Given the description of an element on the screen output the (x, y) to click on. 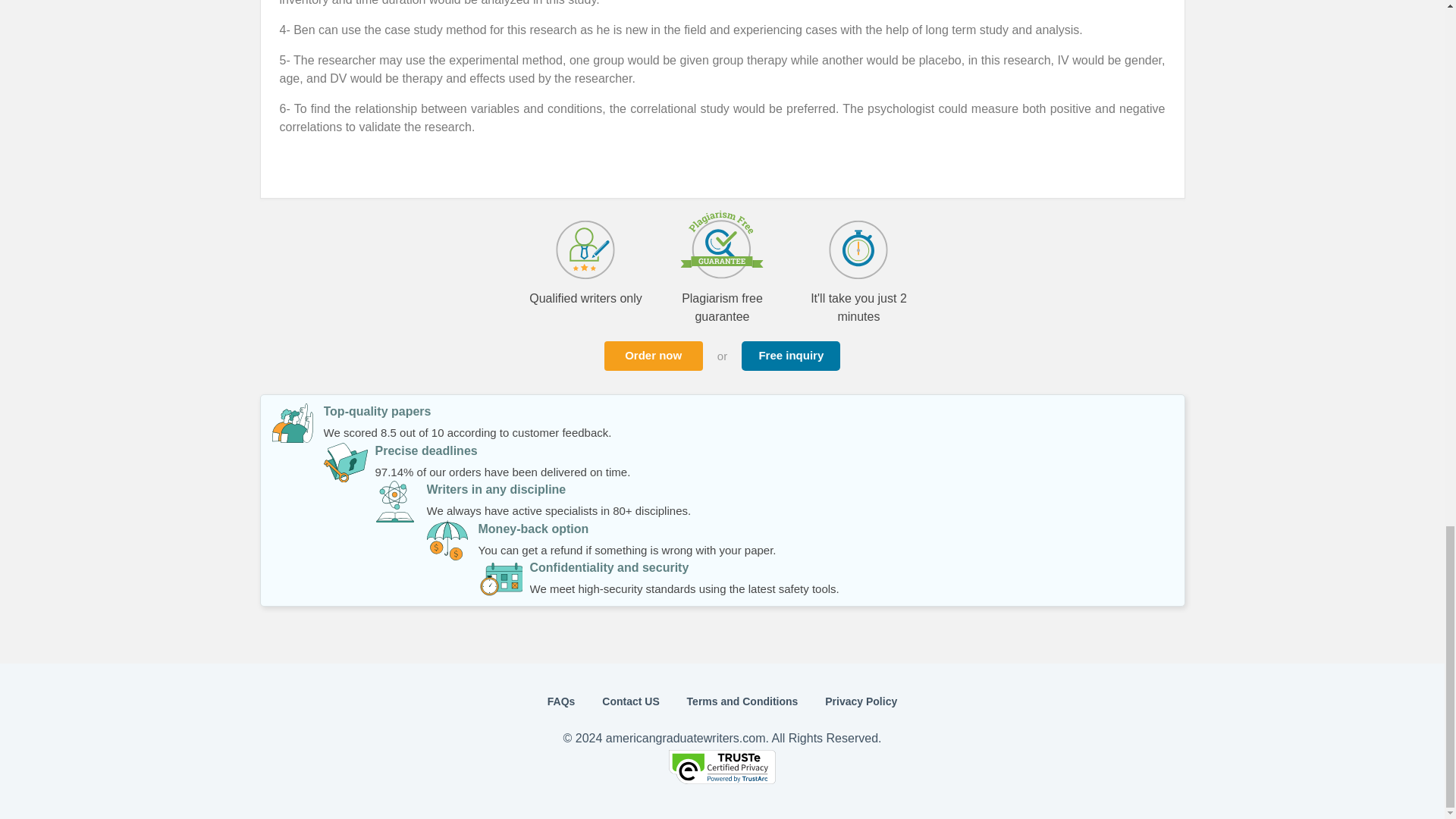
Terms and Conditions (742, 701)
Free inquiry (790, 356)
FAQs (561, 701)
TRUSTe Privacy Certification (722, 779)
Contact US (630, 701)
Privacy Policy (860, 701)
Order now (653, 356)
